Given the description of an element on the screen output the (x, y) to click on. 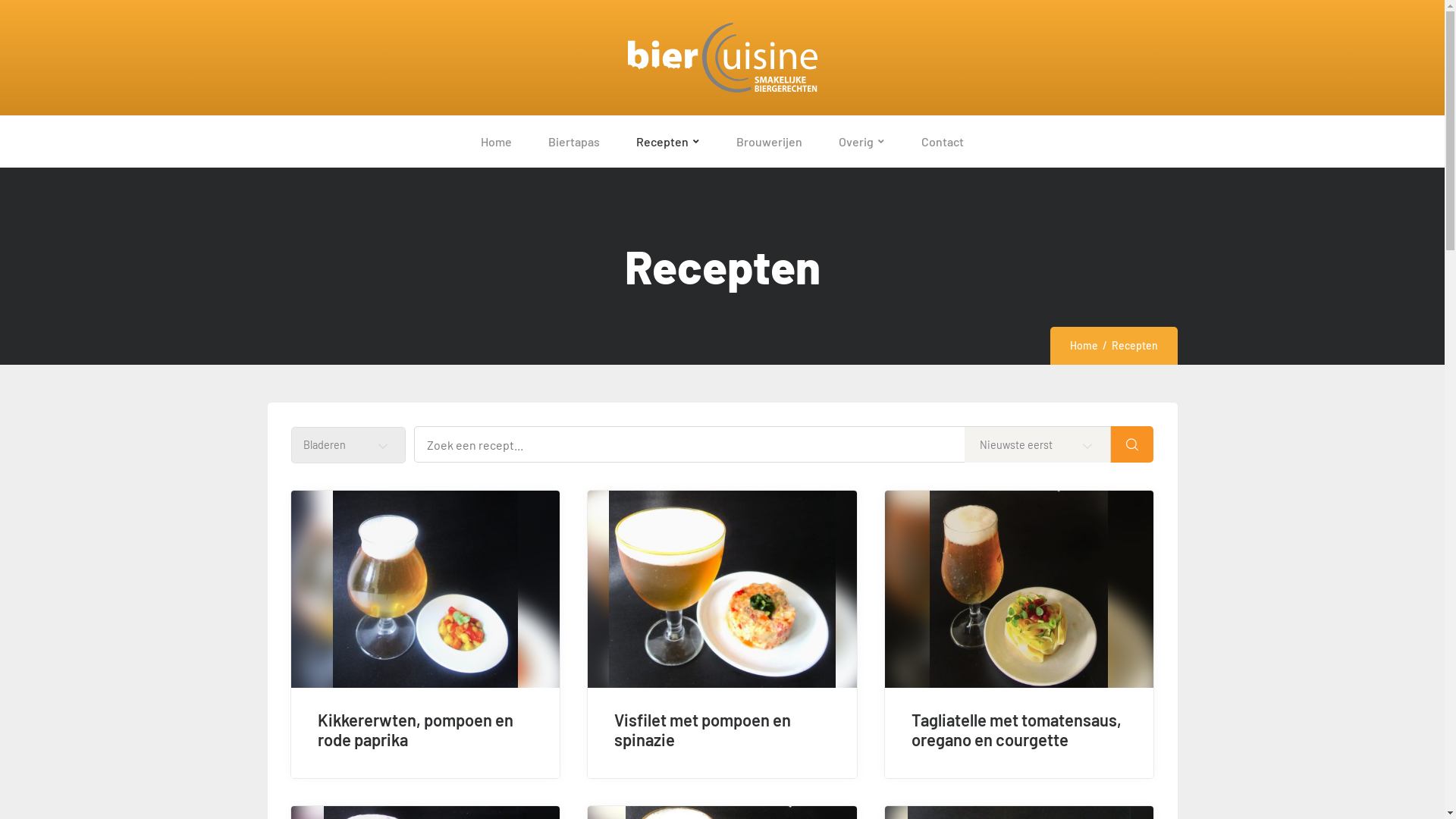
Kikkererwten, pompoen en rode paprika Element type: text (425, 729)
Visfilet met pompoen en spinazie Element type: text (721, 729)
Tagliatelle met tomatensaus, oregano en courgette Element type: text (1018, 729)
Recepten Element type: text (668, 141)
Overig Element type: text (861, 141)
Contact Element type: text (942, 141)
Biertapas Element type: text (574, 141)
Bier Cuisine Element type: hover (721, 57)
Brouwerijen Element type: text (769, 141)
Home Element type: text (1083, 344)
Home Element type: text (496, 141)
